Given the description of an element on the screen output the (x, y) to click on. 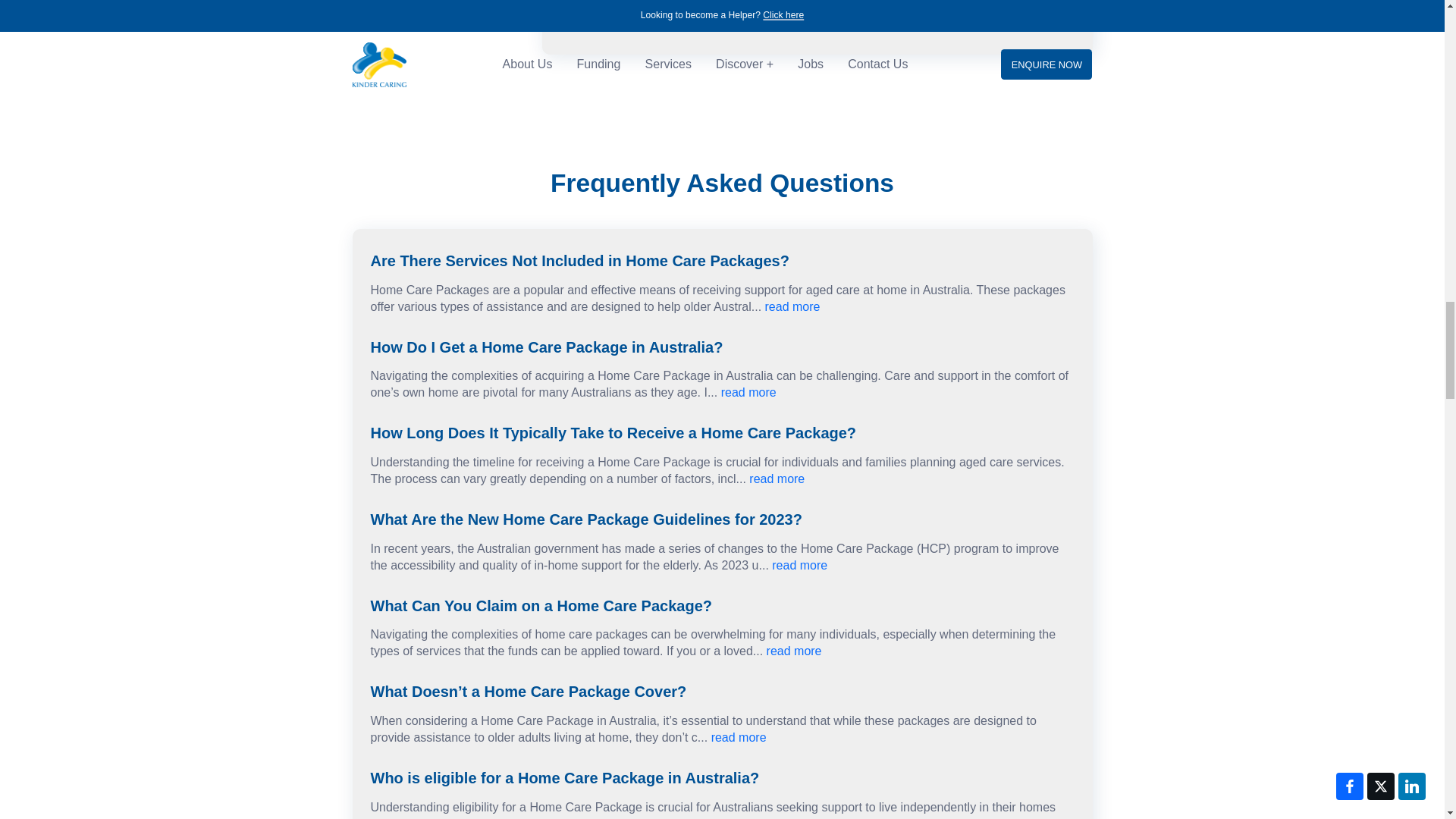
read more (799, 564)
read more (793, 818)
read more (739, 737)
read more (748, 391)
read more (793, 306)
read more (794, 650)
read more (777, 478)
